Given the description of an element on the screen output the (x, y) to click on. 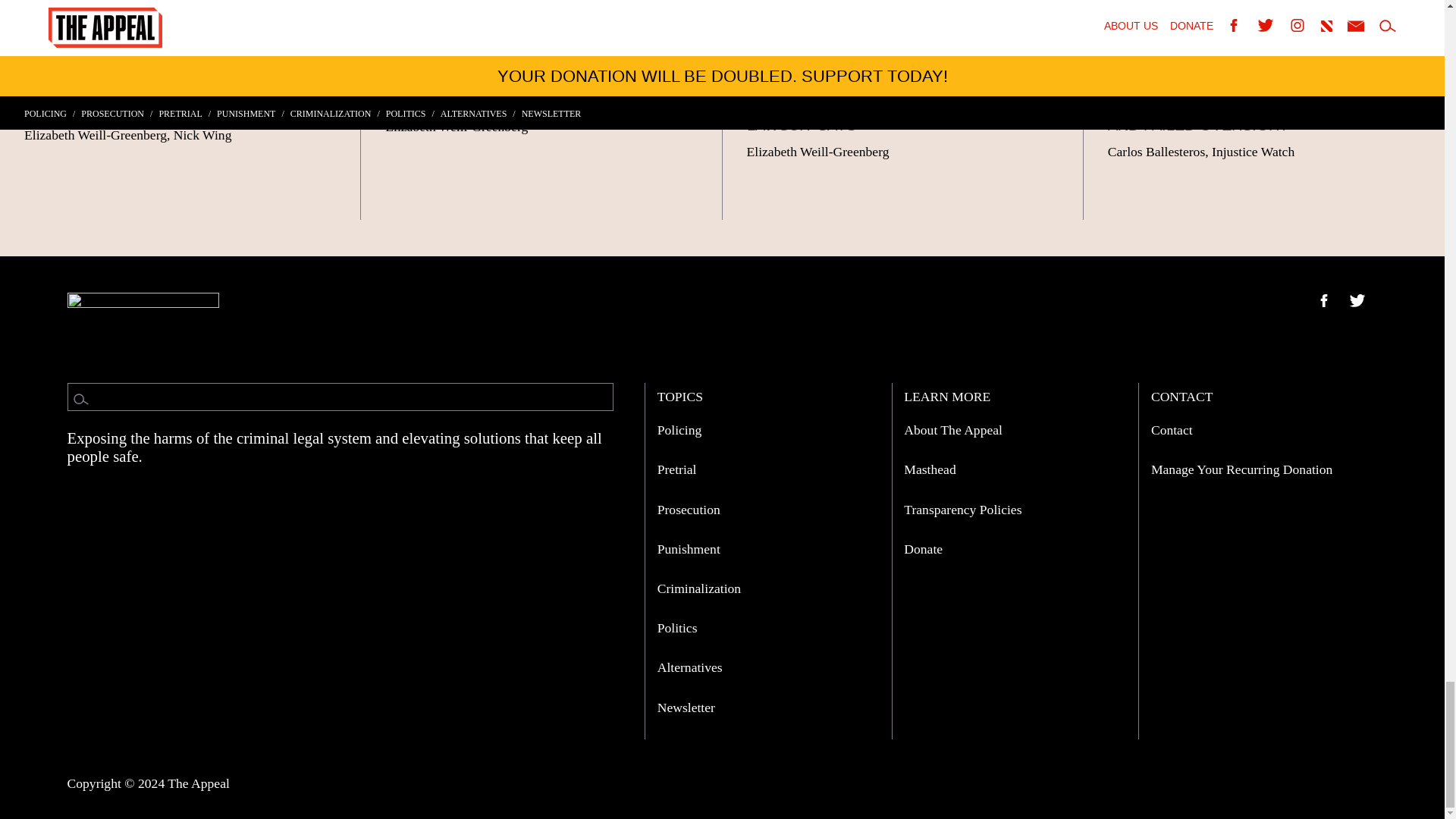
Prosecution (689, 509)
Pretrial (677, 468)
Policing (679, 429)
